Given the description of an element on the screen output the (x, y) to click on. 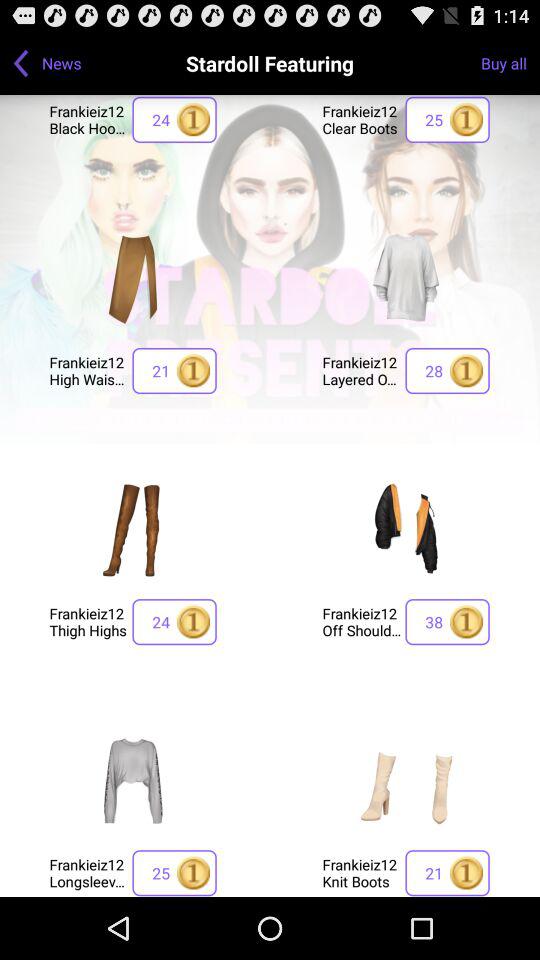
flip until frankieiz12 off shoulder item (361, 621)
